Given the description of an element on the screen output the (x, y) to click on. 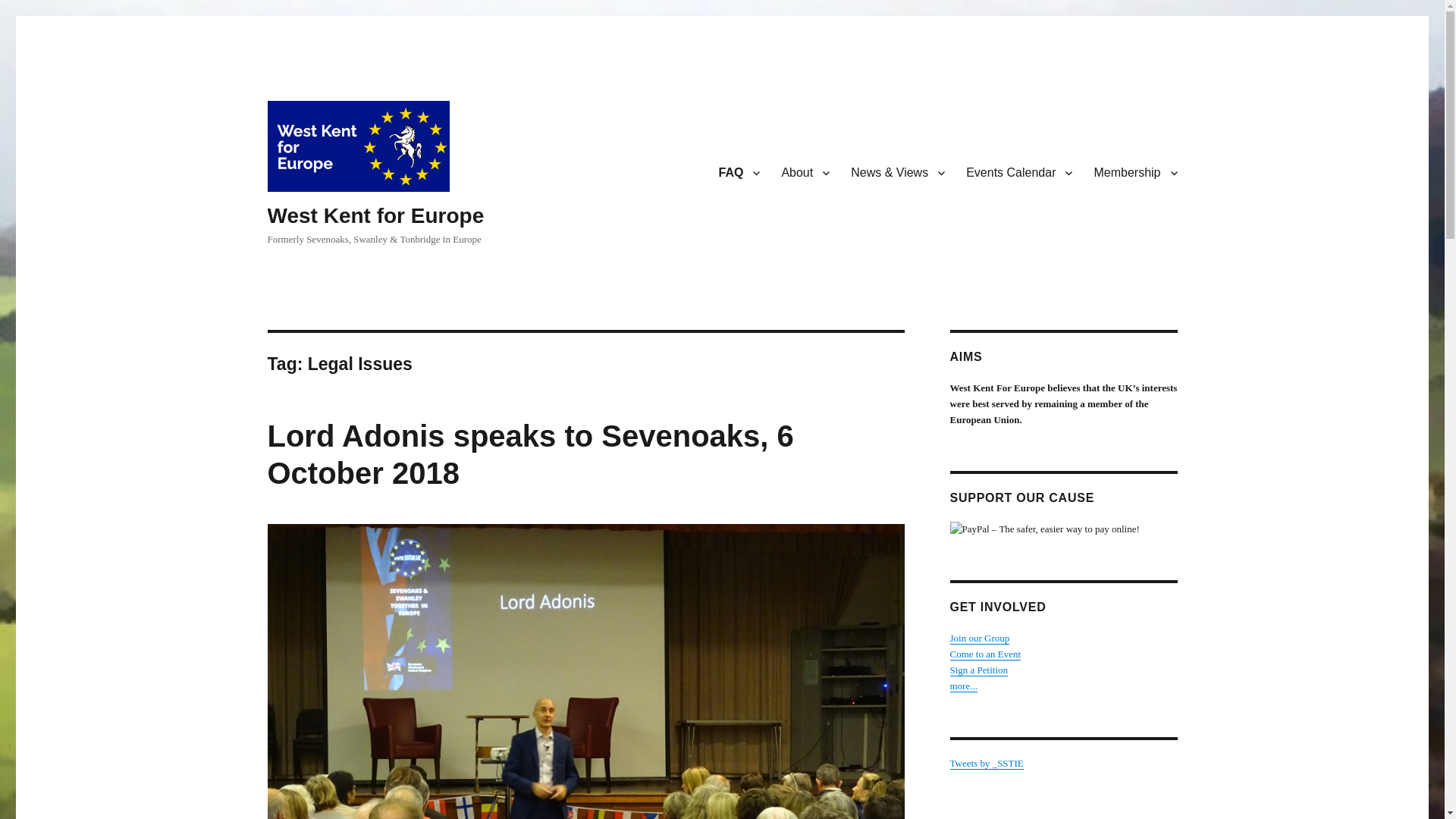
FAQ (739, 173)
West Kent for Europe (374, 215)
About (805, 173)
